Given the description of an element on the screen output the (x, y) to click on. 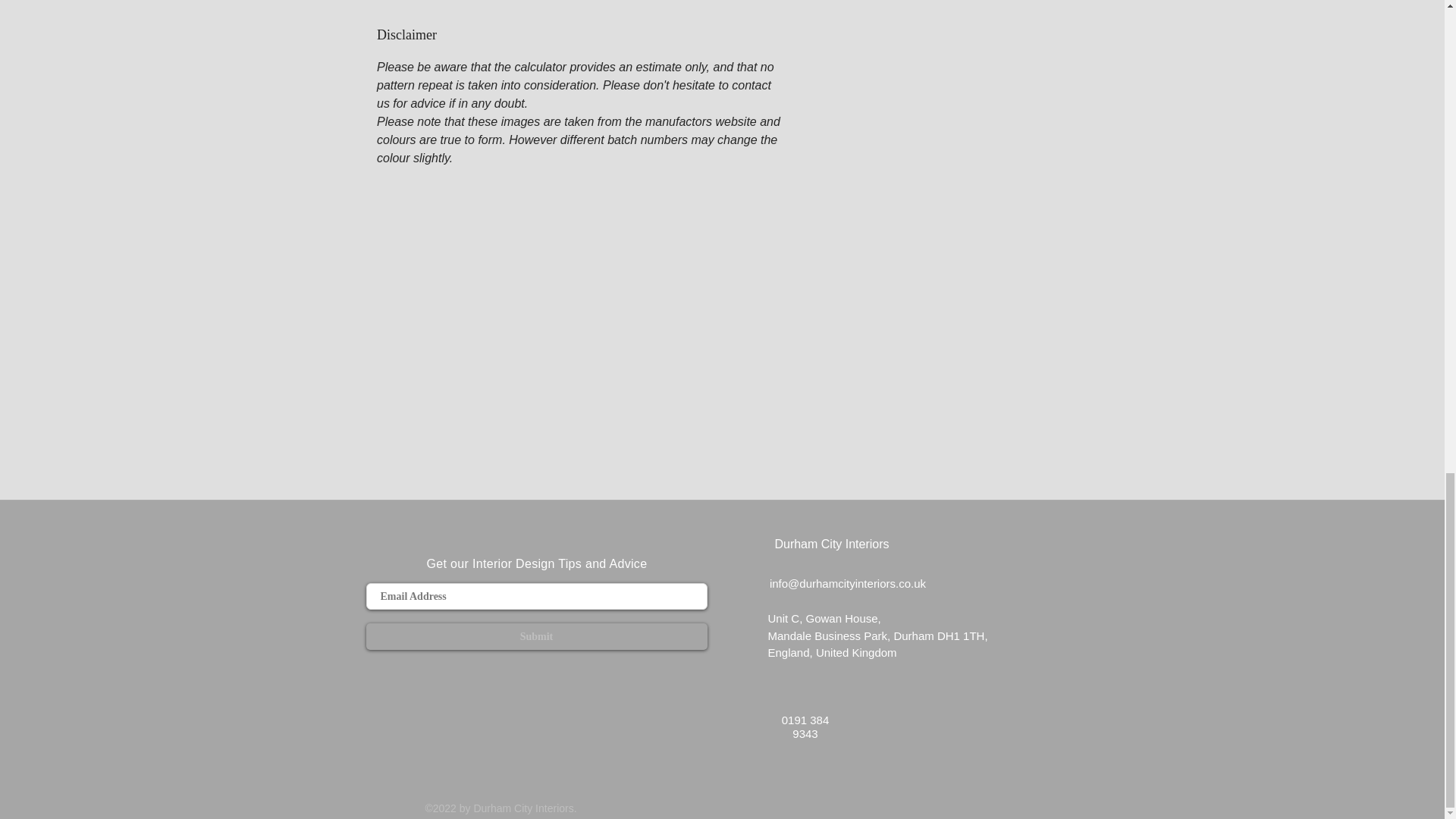
Durham City Interiors (831, 543)
Submit (535, 636)
